Given the description of an element on the screen output the (x, y) to click on. 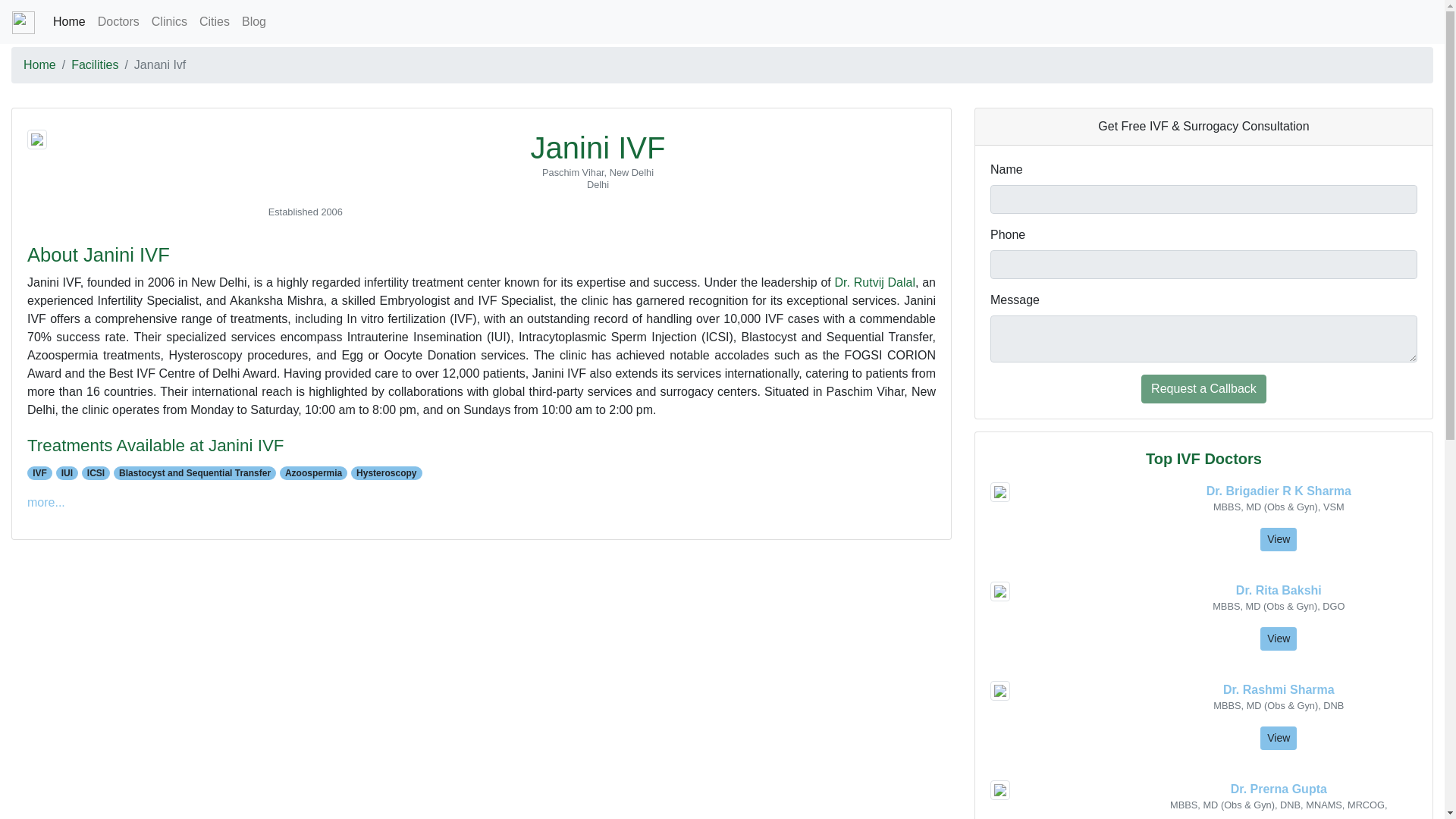
Doctors (118, 21)
Home (68, 21)
View (1278, 738)
View (1278, 638)
Cities (214, 21)
Home (39, 64)
Facilities (94, 64)
Clinics (169, 21)
Request a Callback (1203, 388)
View (1278, 539)
Request a Callback (1203, 388)
Blog (253, 21)
Dr. Rutvij Dalal (874, 282)
more... (46, 502)
